Given the description of an element on the screen output the (x, y) to click on. 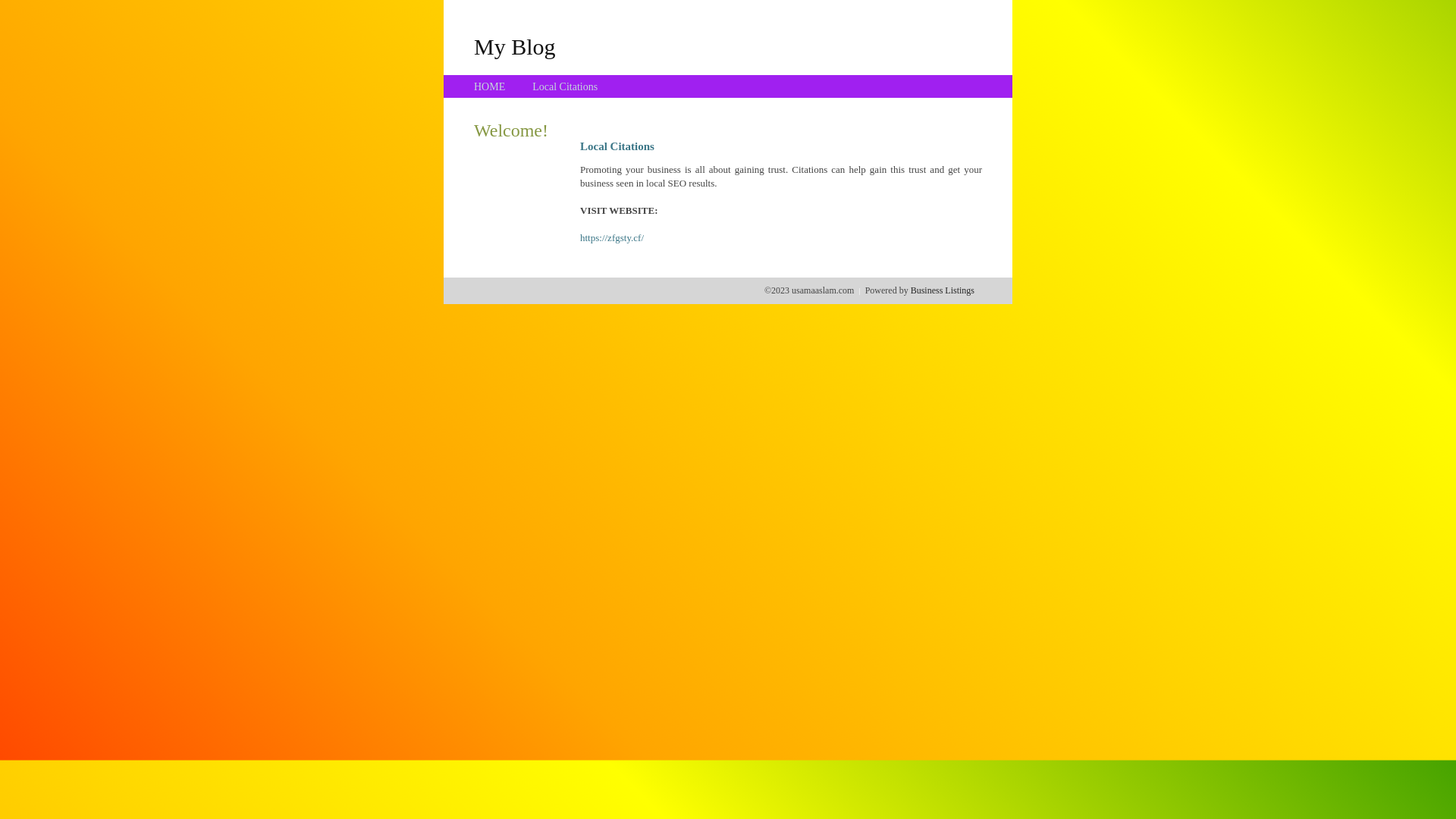
Business Listings Element type: text (942, 290)
My Blog Element type: text (514, 46)
Local Citations Element type: text (564, 86)
https://zfgsty.cf/ Element type: text (611, 237)
HOME Element type: text (489, 86)
